Given the description of an element on the screen output the (x, y) to click on. 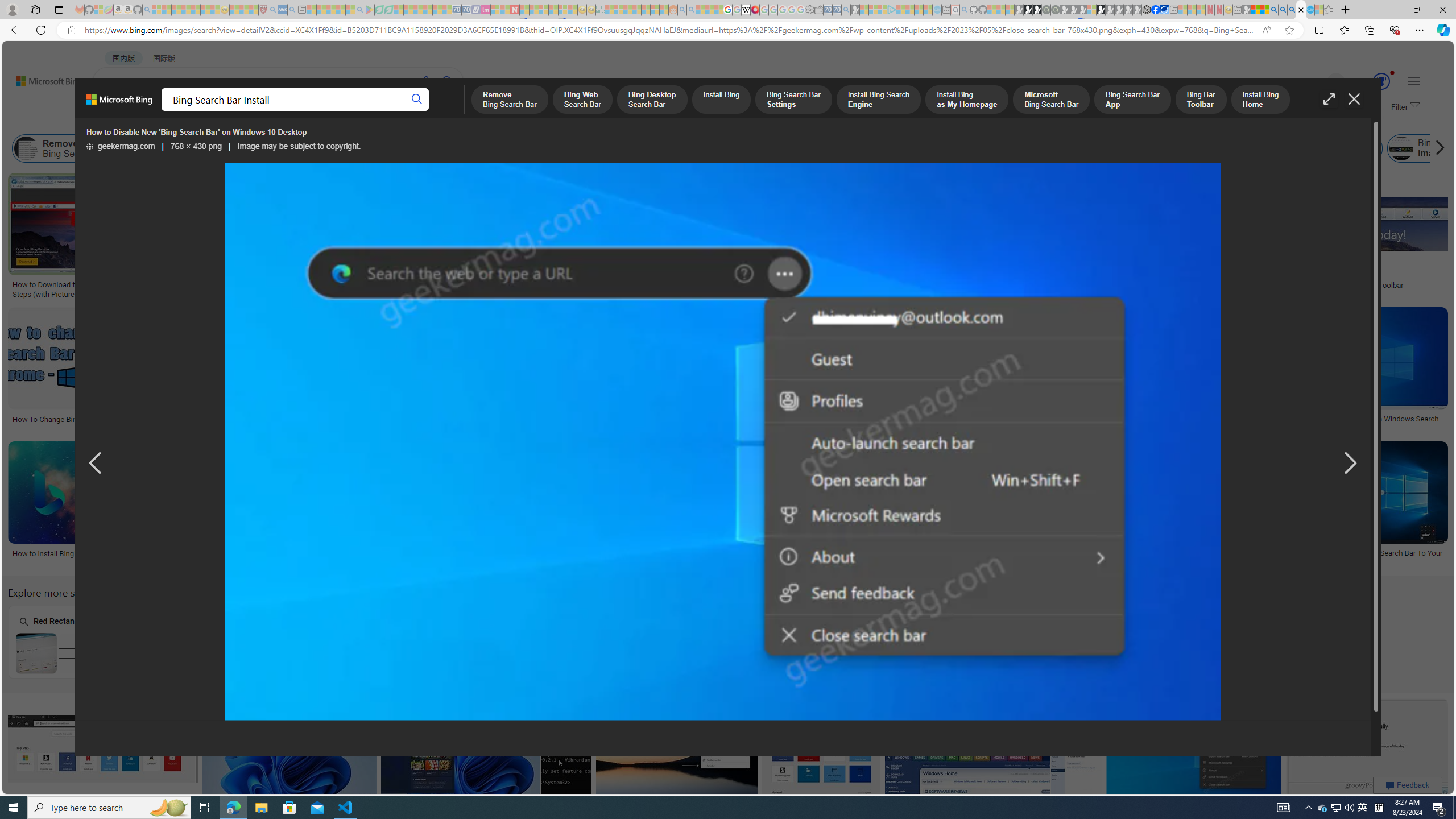
How to install Bing! (93, 552)
Bing Search Bar On Home Screen Home Screen (515, 642)
T-Shirts (704, 212)
Red Rectangle Bing Search Bar (79, 652)
How to install Bing!Save (94, 505)
